Given the description of an element on the screen output the (x, y) to click on. 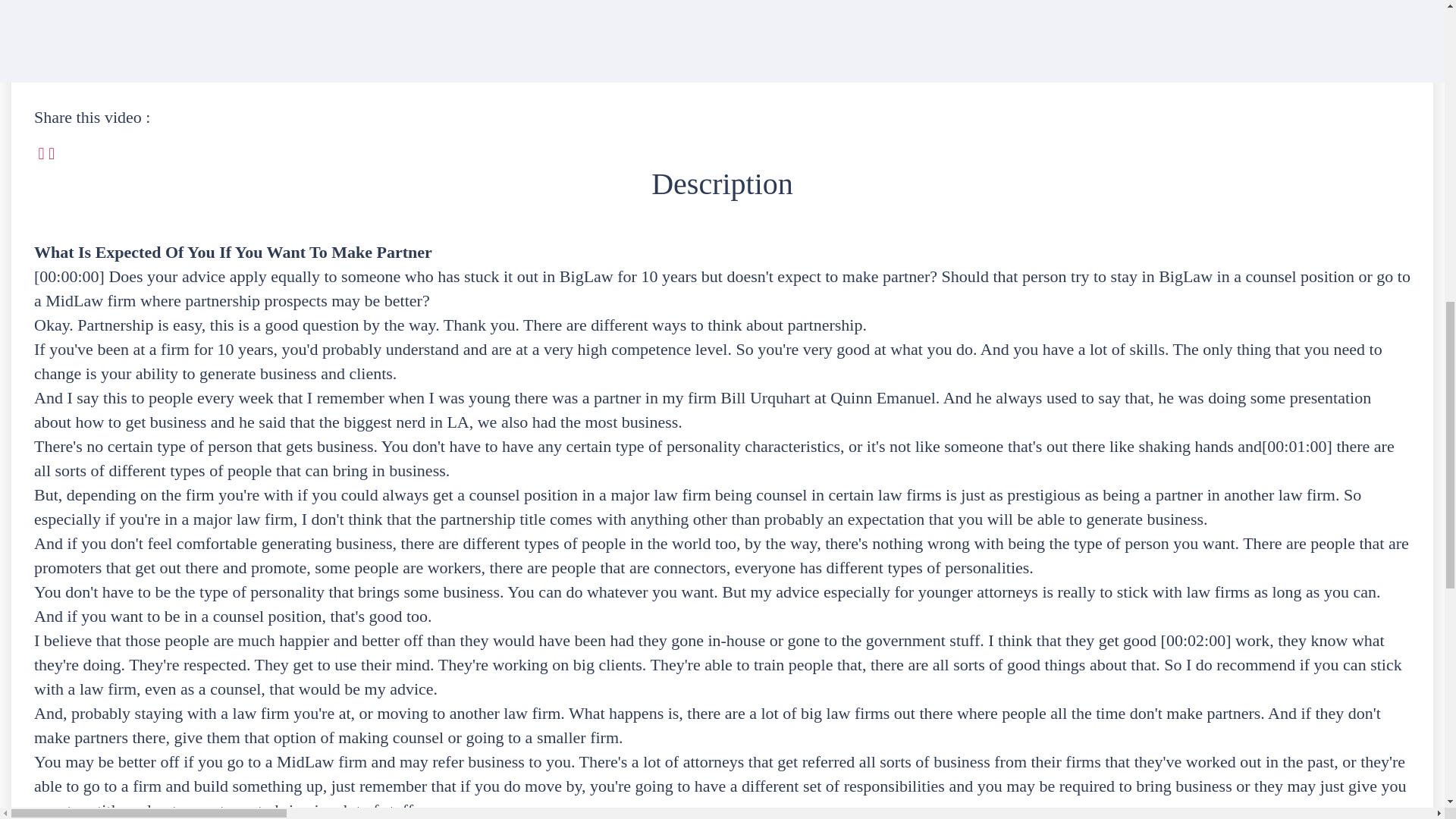
vimeo-player (253, 39)
Share on Linkedin (51, 153)
Share on Twitter (40, 153)
